Given the description of an element on the screen output the (x, y) to click on. 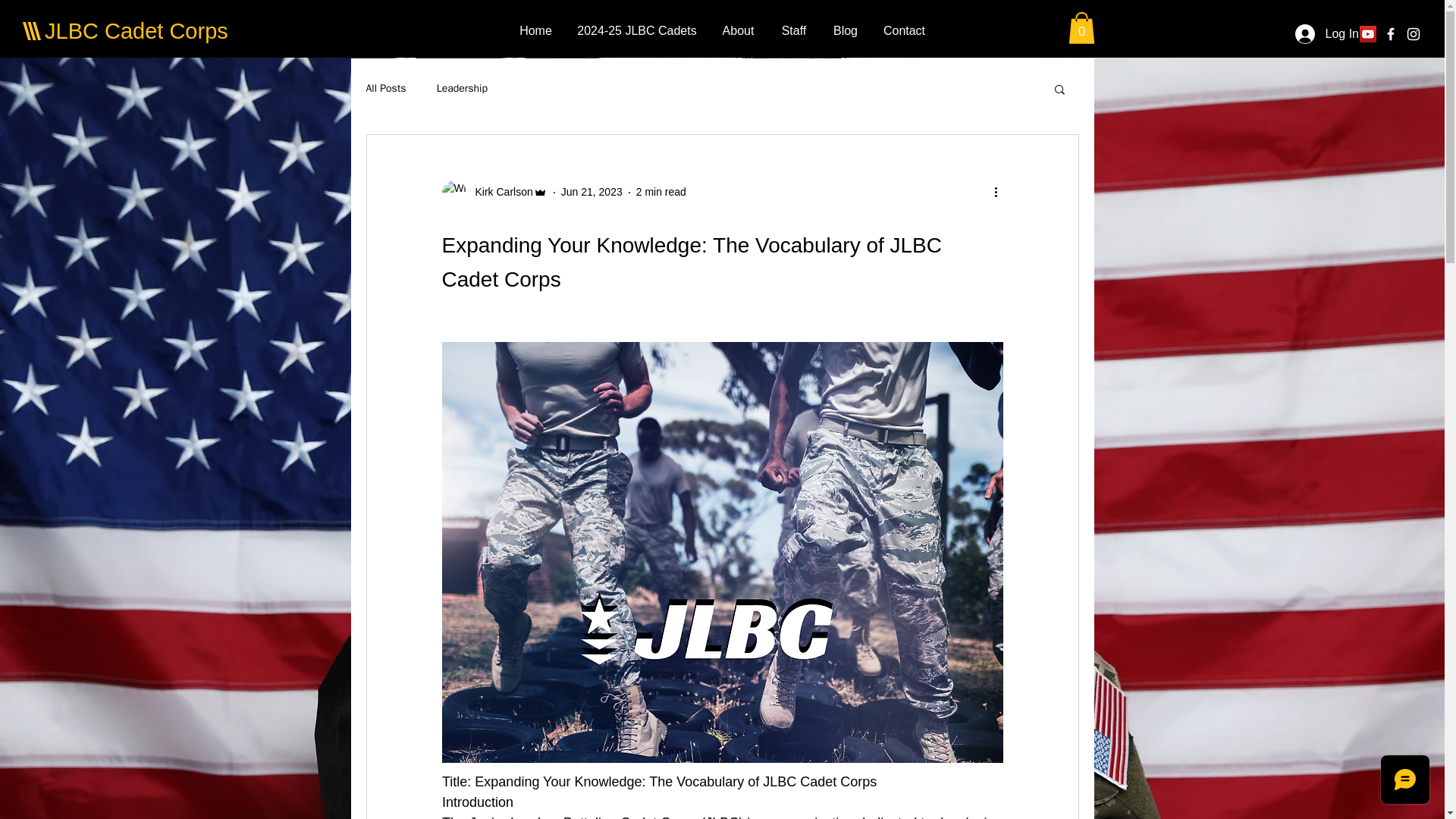
0 (1080, 28)
Staff (794, 30)
About (738, 30)
Blog (845, 30)
Home (535, 30)
2 min read (660, 191)
JLBC Cadet Corps (136, 30)
Jun 21, 2023 (591, 191)
Contact (903, 30)
0 (1080, 28)
Leadership (461, 88)
2024-25 JLBC Cadets (636, 30)
Kirk Carlson (498, 191)
Kirk Carlson (494, 192)
All Posts (385, 88)
